Given the description of an element on the screen output the (x, y) to click on. 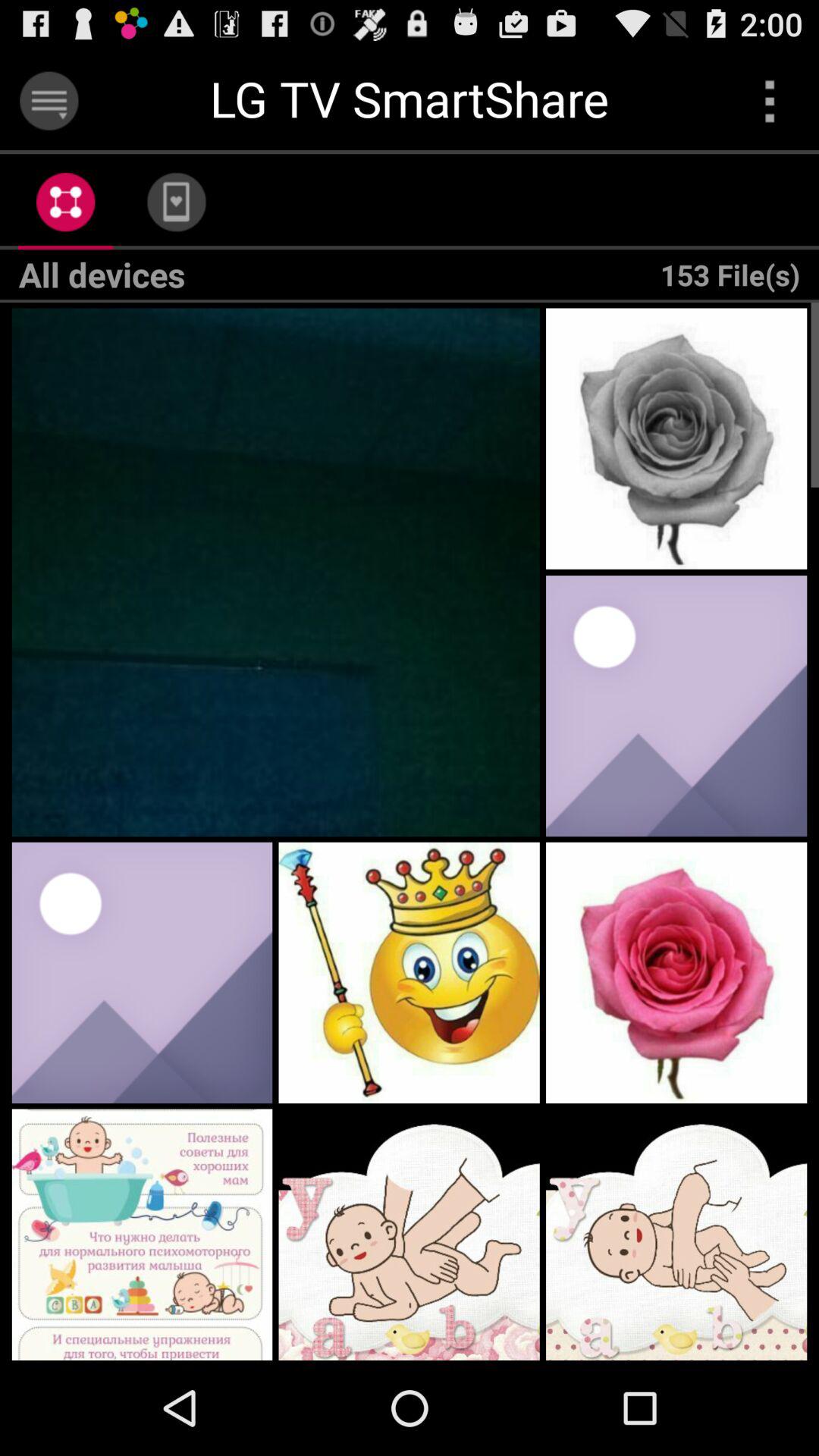
display menu options (48, 100)
